Given the description of an element on the screen output the (x, y) to click on. 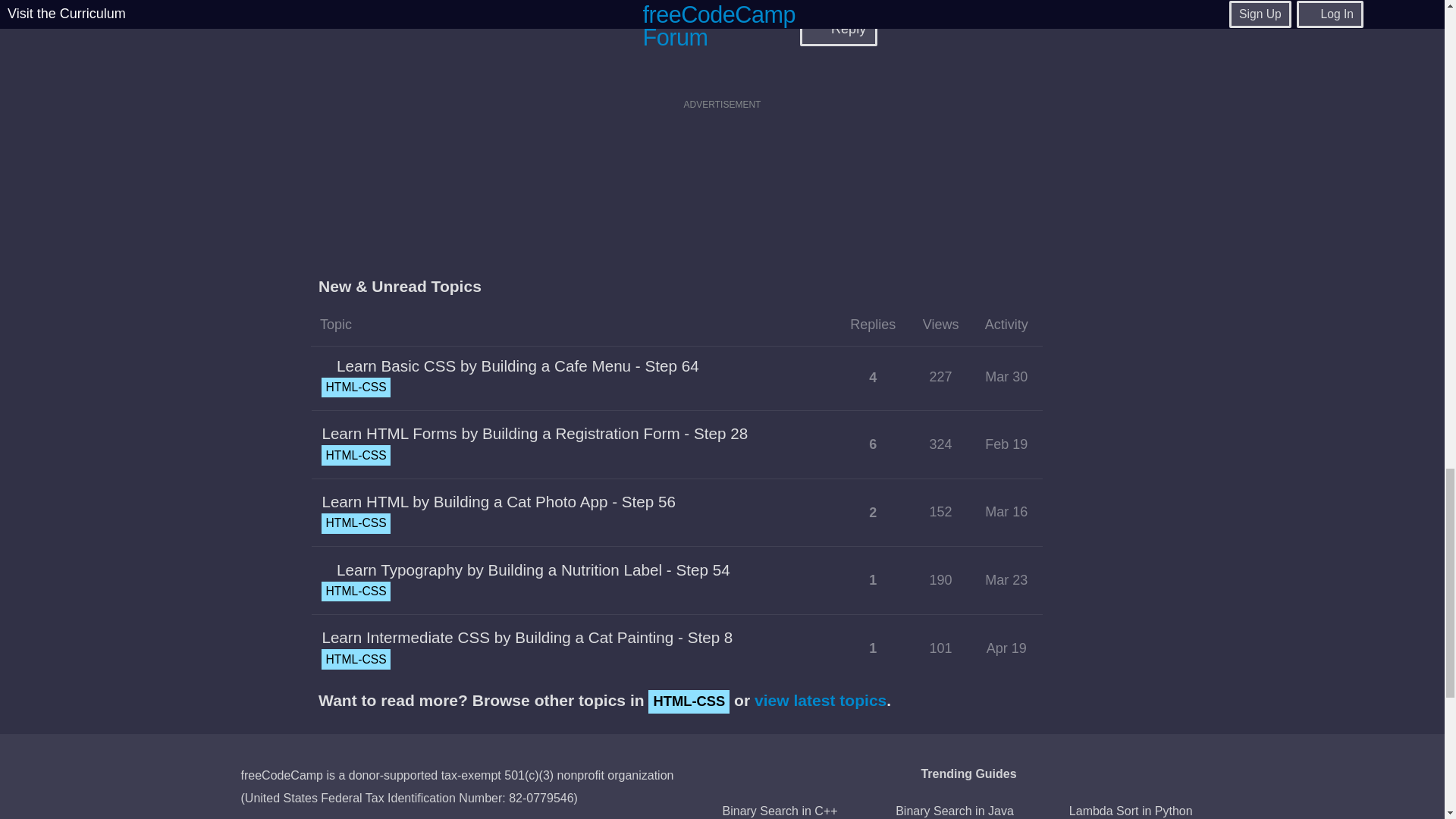
HTML-CSS (355, 387)
Reply (838, 28)
Learn Basic CSS by Building a Cafe Menu - Step 64 (517, 365)
